Given the description of an element on the screen output the (x, y) to click on. 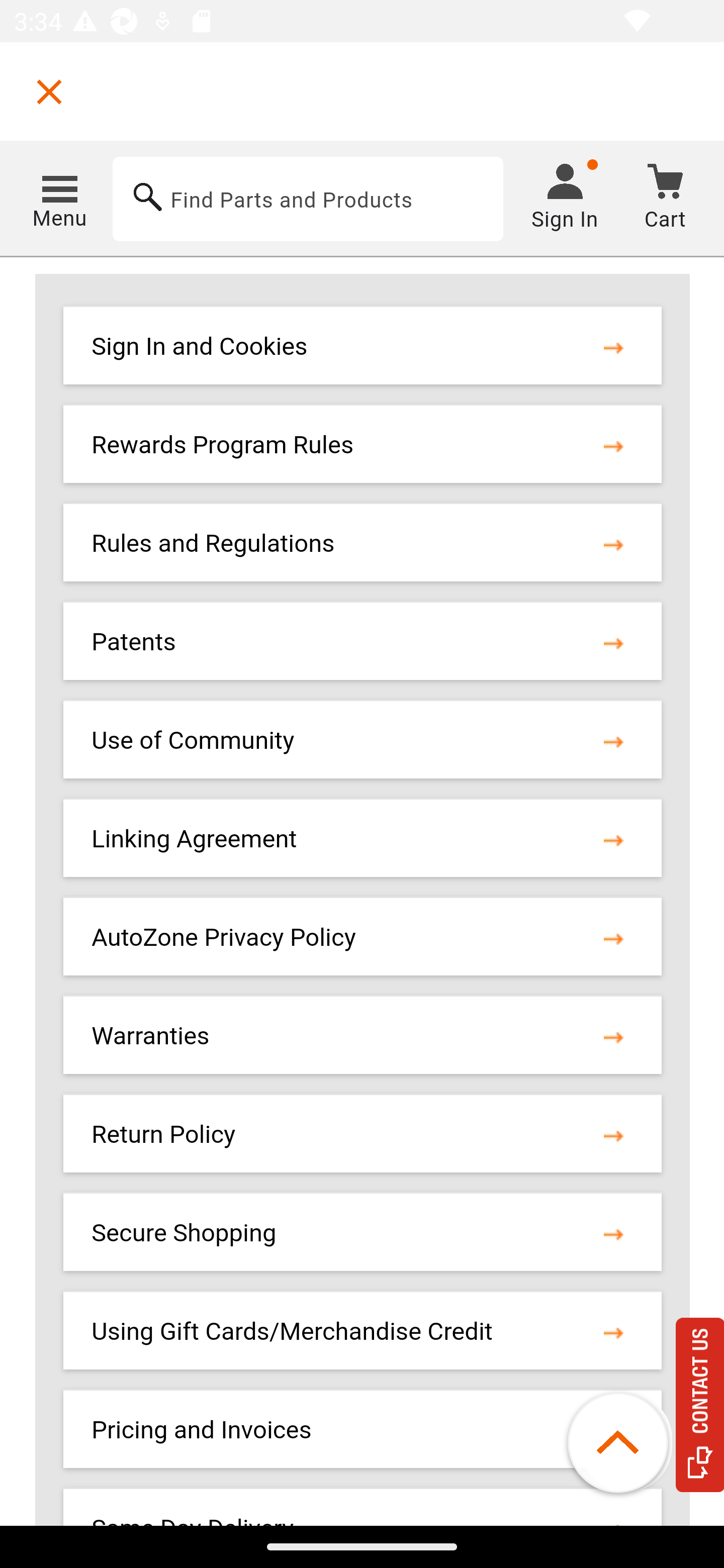
 (49, 91)
Sign In and Cookies (199, 347)
termsAndConditions#loginAndCookies (613, 347)
Rewards Program Rules (223, 445)
termsAndConditions#rewardsProgramRules (613, 445)
Rules and Regulations (213, 544)
termsAndConditions#rulesAndRegulations (613, 544)
Patents (134, 643)
termsAndConditions#patent (613, 643)
Use of Community (193, 740)
termsAndConditions#useOfCommunity (613, 740)
Linking Agreement (193, 839)
termsAndConditions#linkingAgreement (613, 839)
AutoZone Privacy Policy (223, 938)
termsAndConditions#privacyPolicy (613, 938)
Warranties (151, 1037)
termsAndConditions#warranties (613, 1037)
Return Policy (163, 1135)
termsAndConditions#returnsPolicy (613, 1135)
Secure Shopping (184, 1233)
termsAndConditions#secureShopping (613, 1233)
Using Gift Cards/Merchandise Credit (292, 1331)
oval (627, 1443)
Pricing and Invoices (202, 1430)
